Given the description of an element on the screen output the (x, y) to click on. 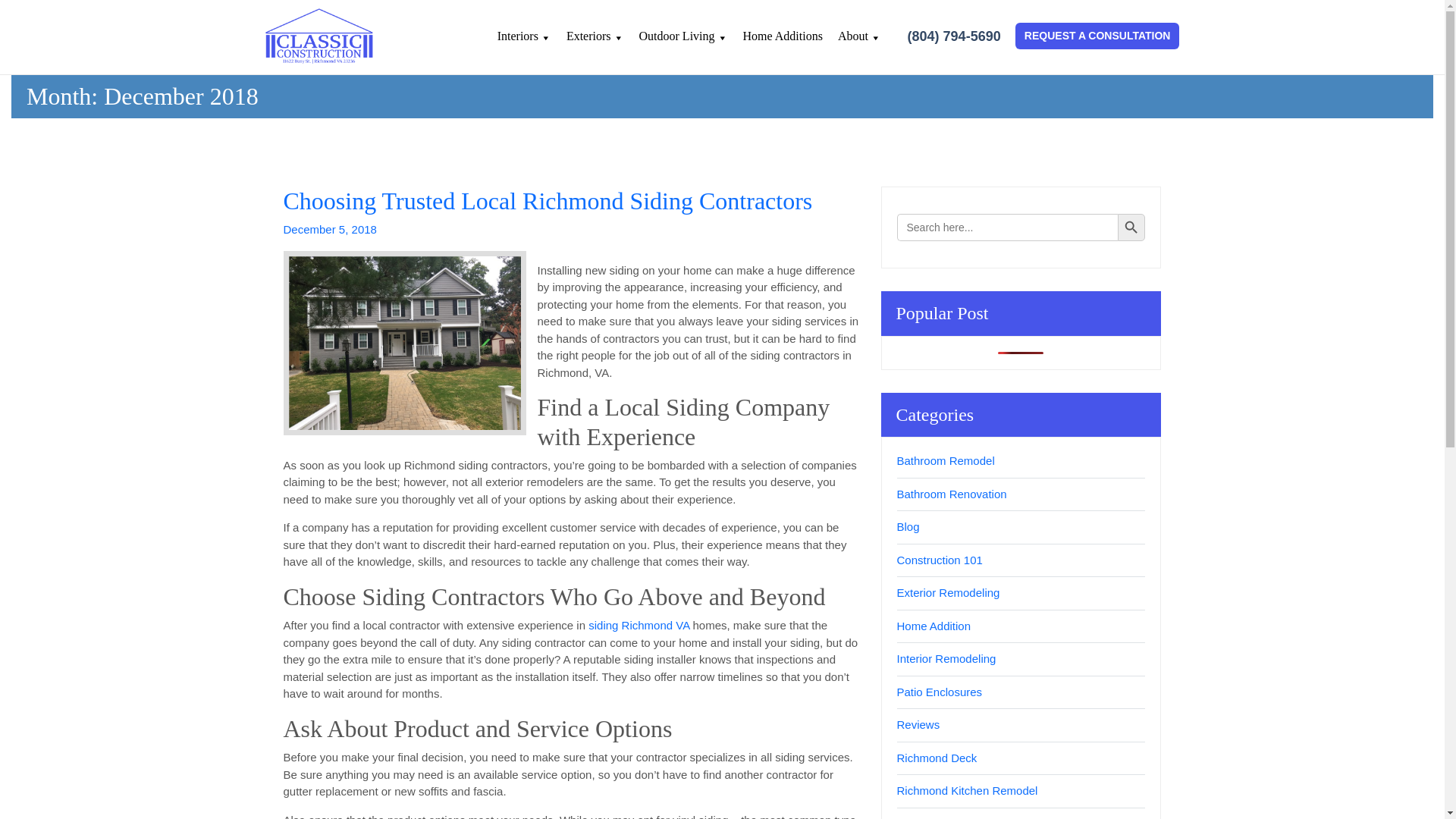
siding Richmond VA (638, 625)
Bathroom Renovation (951, 493)
December 5, 2018 (330, 228)
Construction 101 (938, 559)
Exterior Remodeling (947, 592)
Home Additions (782, 44)
Interior Remodeling (945, 658)
About (859, 44)
siding richmond VA (404, 342)
Blog (907, 526)
